Given the description of an element on the screen output the (x, y) to click on. 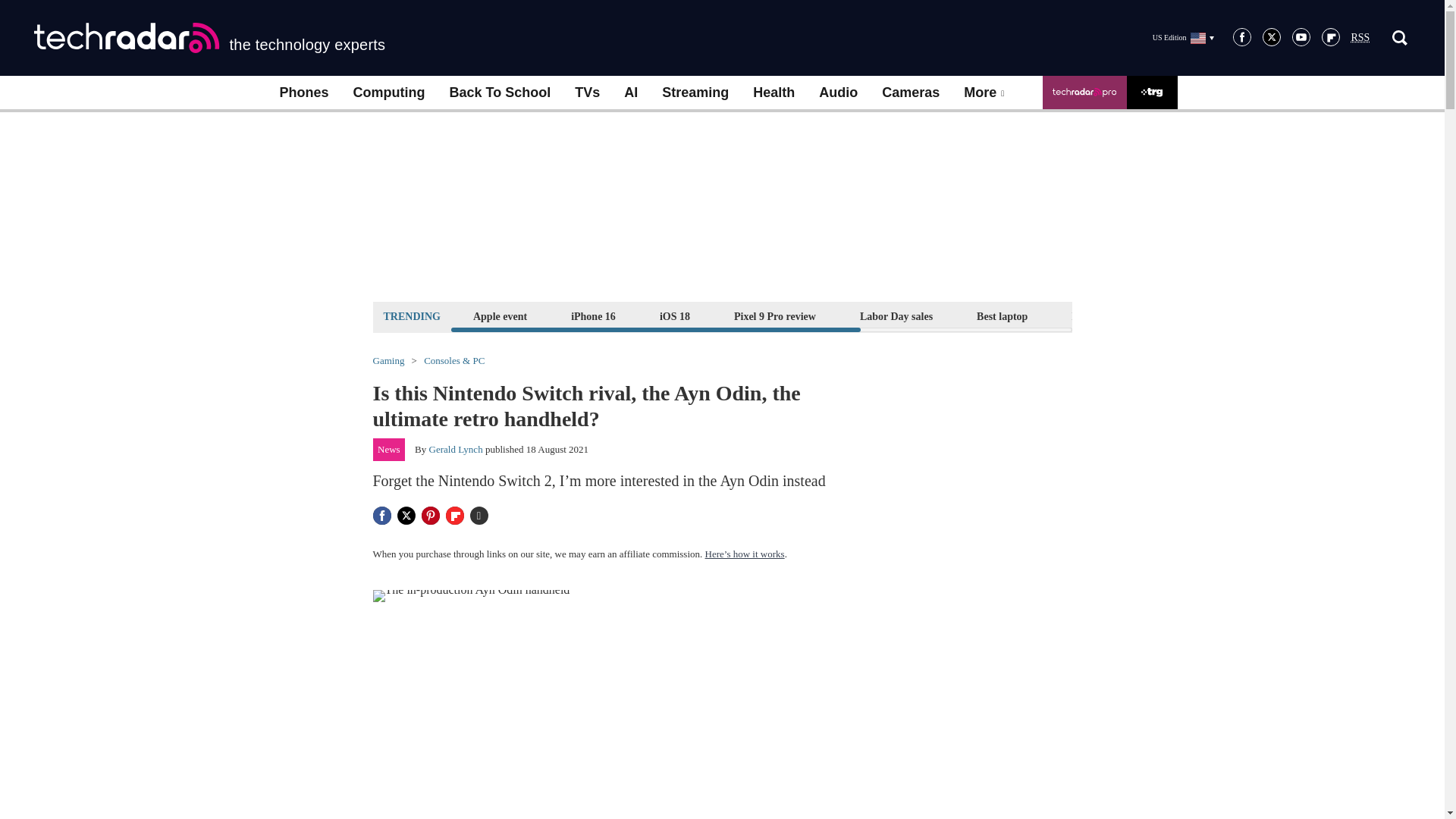
Health (773, 92)
Cameras (910, 92)
TVs (586, 92)
Really Simple Syndication (1360, 37)
Phones (303, 92)
US Edition (1182, 37)
Back To School (499, 92)
Streaming (695, 92)
Audio (837, 92)
AI (630, 92)
